Given the description of an element on the screen output the (x, y) to click on. 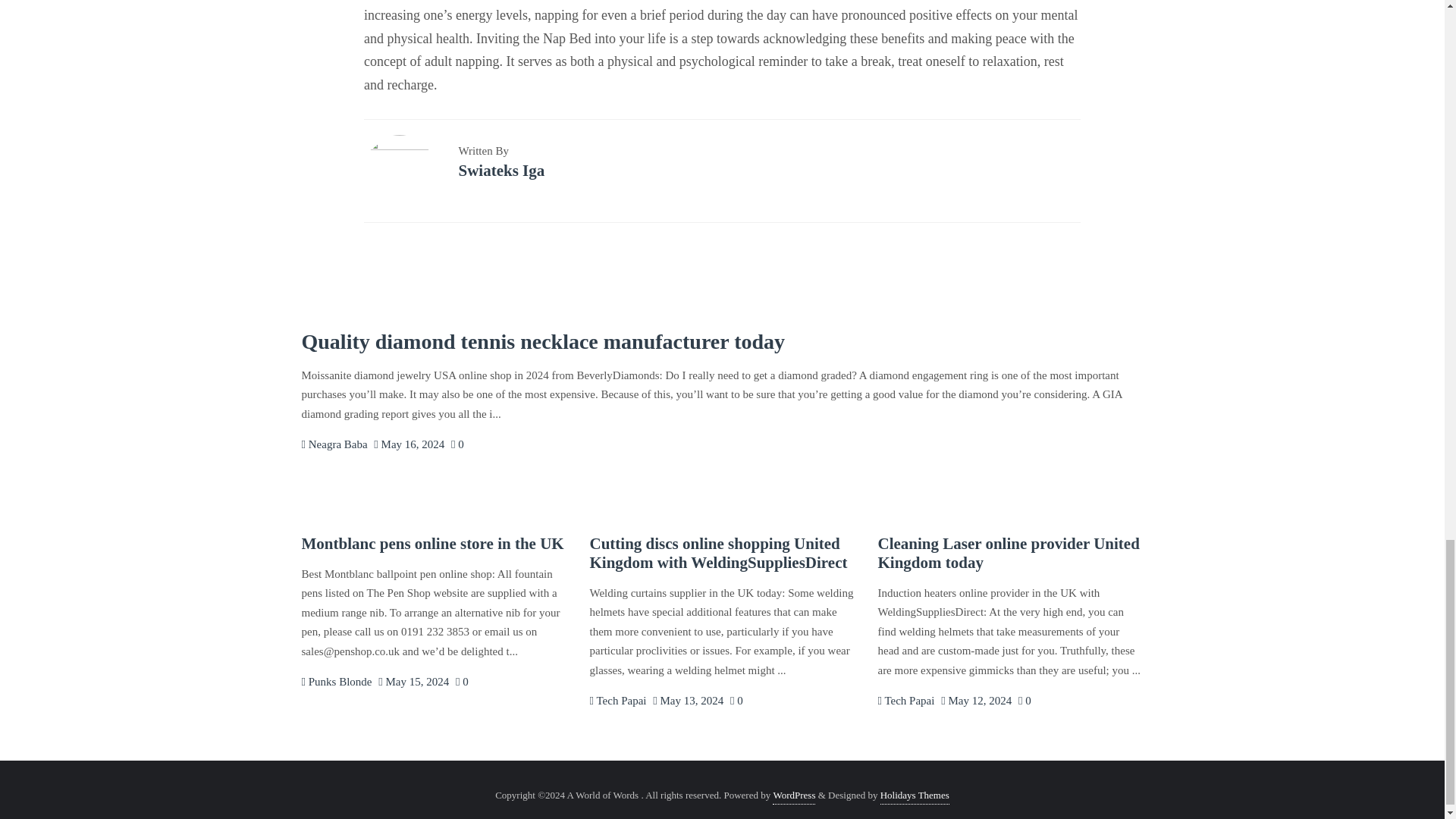
Montblanc pens online store in the UK (432, 543)
0 (461, 681)
Neagra Baba (334, 444)
0 (736, 700)
Punks Blonde (336, 681)
WordPress (794, 795)
Cleaning Laser online provider United Kingdom today (1007, 552)
May 16, 2024 (409, 444)
0 (1023, 700)
Montblanc pens online store in the UK (432, 543)
Swiateks Iga (501, 170)
Tech Papai (617, 700)
Cleaning Laser online provider United Kingdom today (1007, 552)
